Given the description of an element on the screen output the (x, y) to click on. 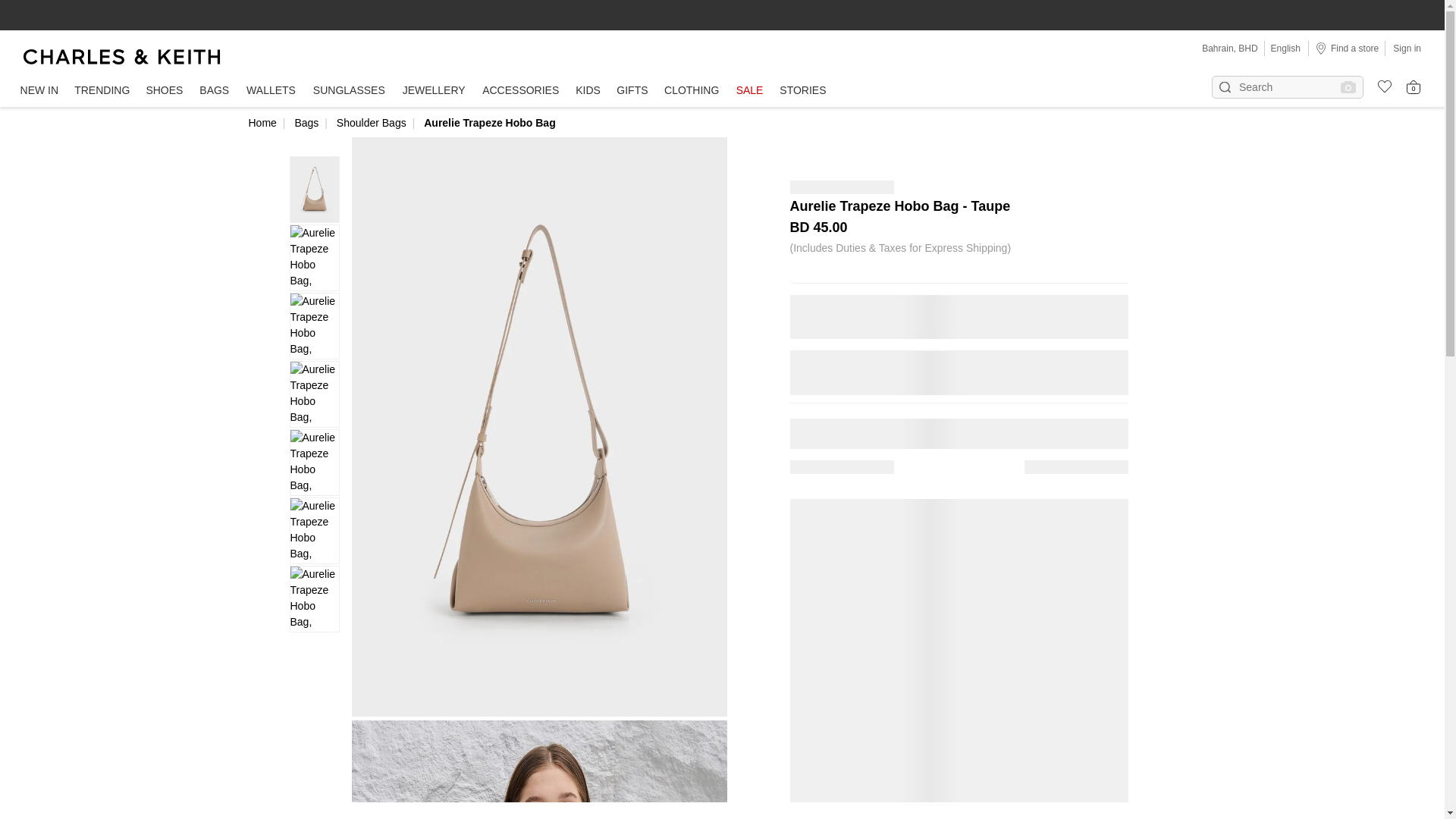
SALE (748, 91)
ACCESSORIES (520, 91)
Bahrain, (1220, 48)
CLOTHING (691, 91)
Sign in (1407, 48)
View Cart (1413, 87)
NEW IN (38, 91)
SUNGLASSES (349, 91)
Find a store (1346, 48)
BAGS (214, 91)
